Given the description of an element on the screen output the (x, y) to click on. 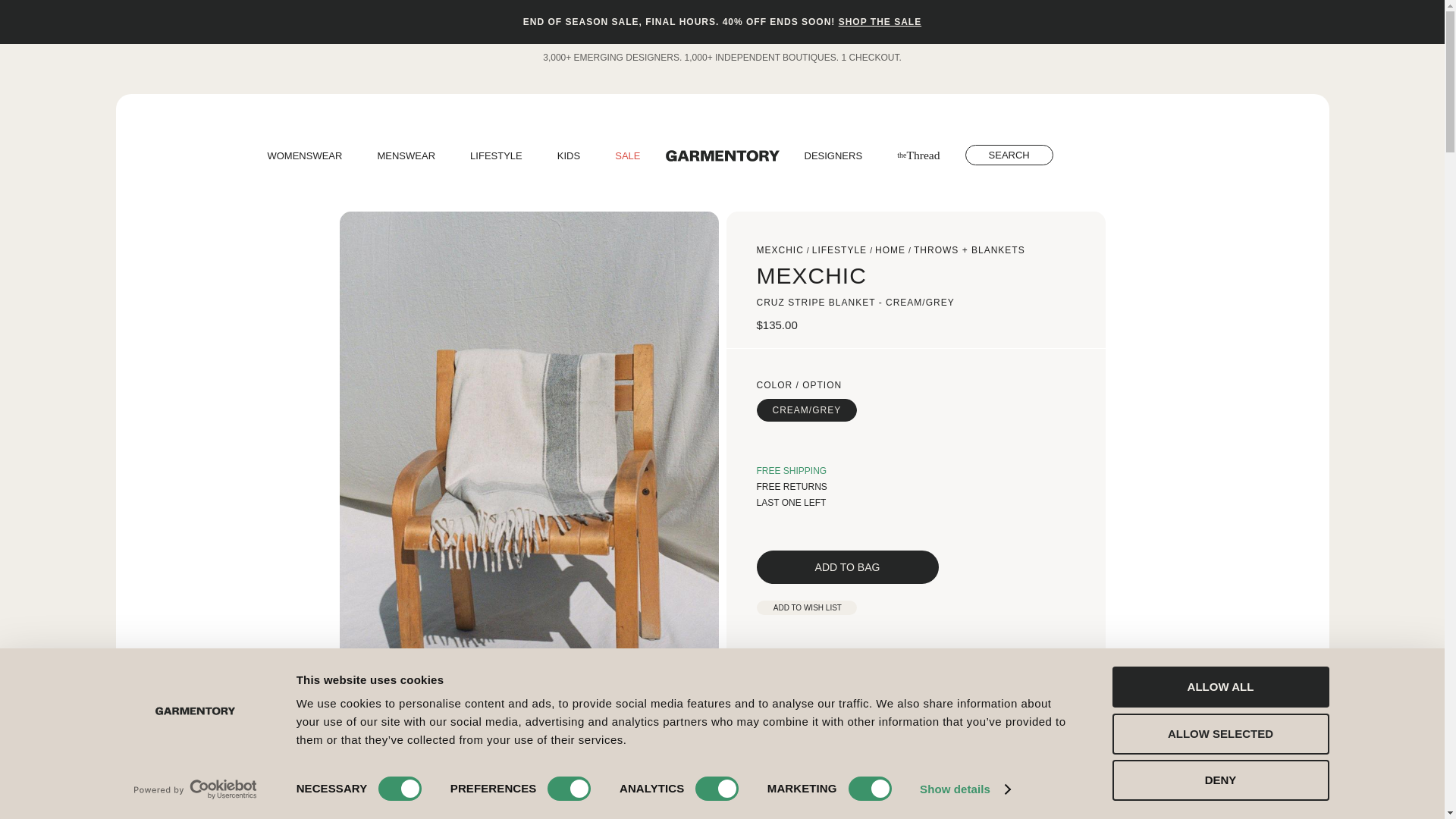
Add to bag (848, 566)
SHOP THE SALE (879, 21)
DENY (1219, 780)
ALLOW SELECTED (1219, 732)
SHOP THE SALE (879, 21)
Show details (964, 789)
ALLOW ALL (1219, 686)
